Given the description of an element on the screen output the (x, y) to click on. 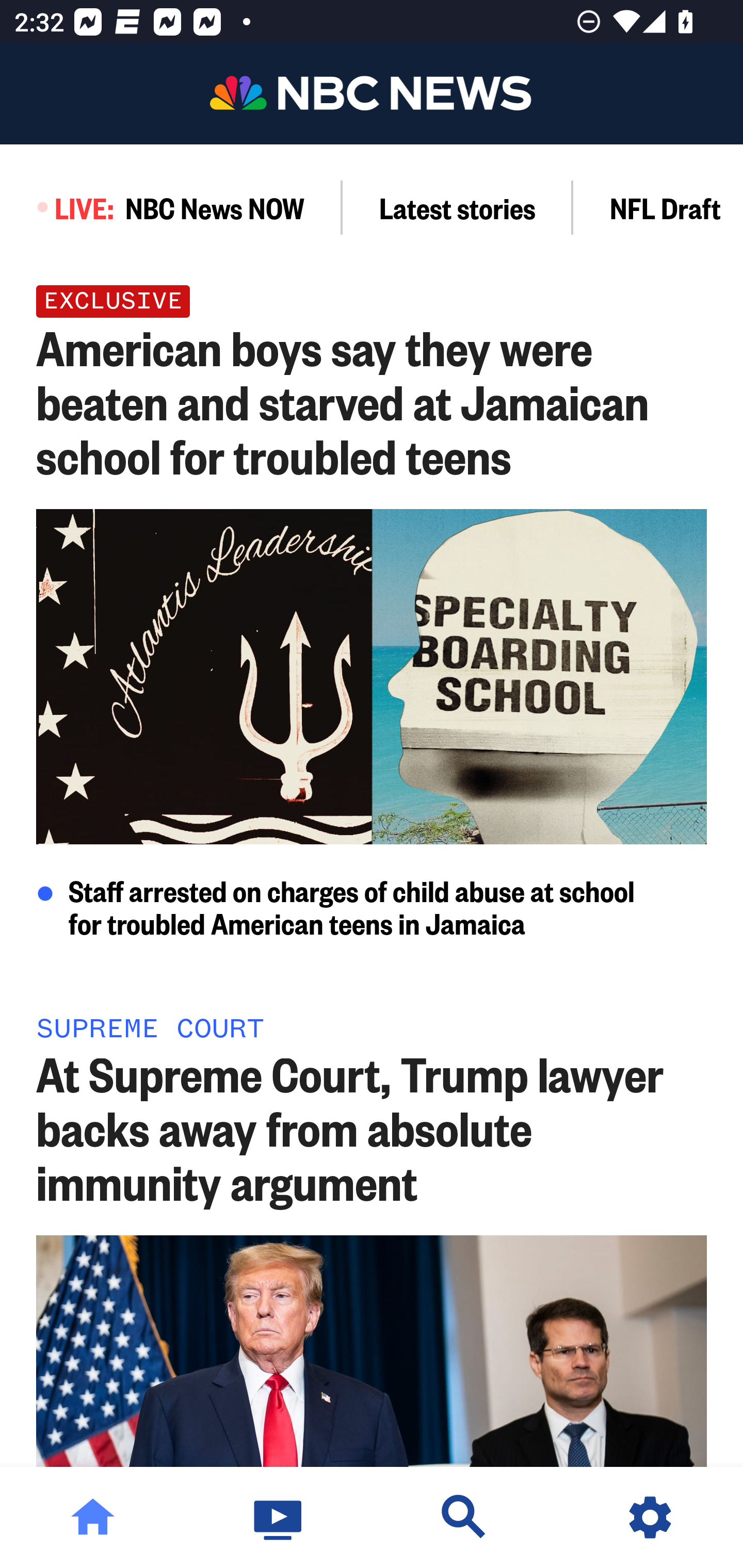
LIVE:  NBC News NOW (171, 207)
Latest stories Section,Latest stories (457, 207)
NFL Draft (658, 207)
Watch (278, 1517)
Discover (464, 1517)
Settings (650, 1517)
